Given the description of an element on the screen output the (x, y) to click on. 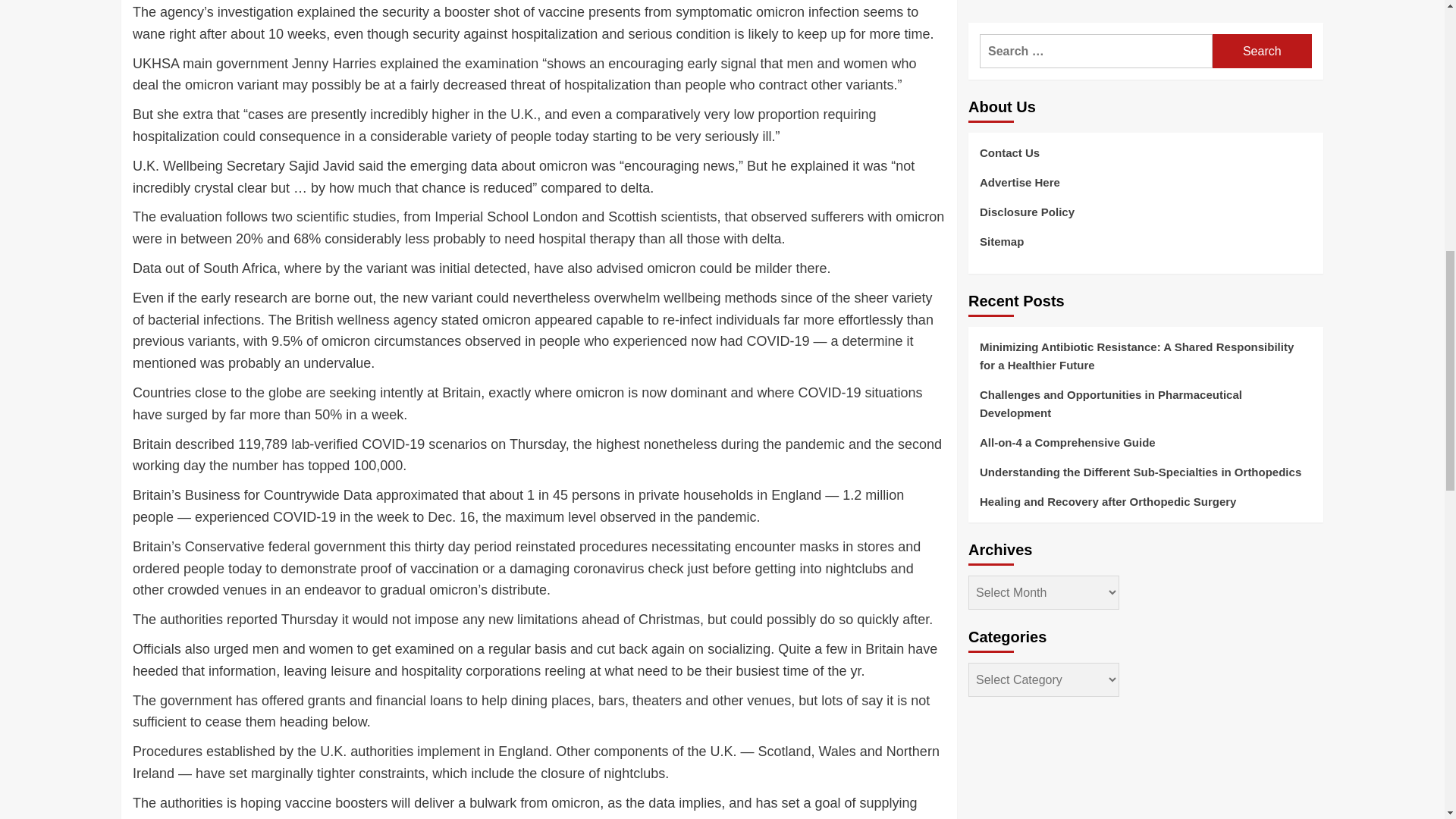
two scientific studies, (334, 216)
